Given the description of an element on the screen output the (x, y) to click on. 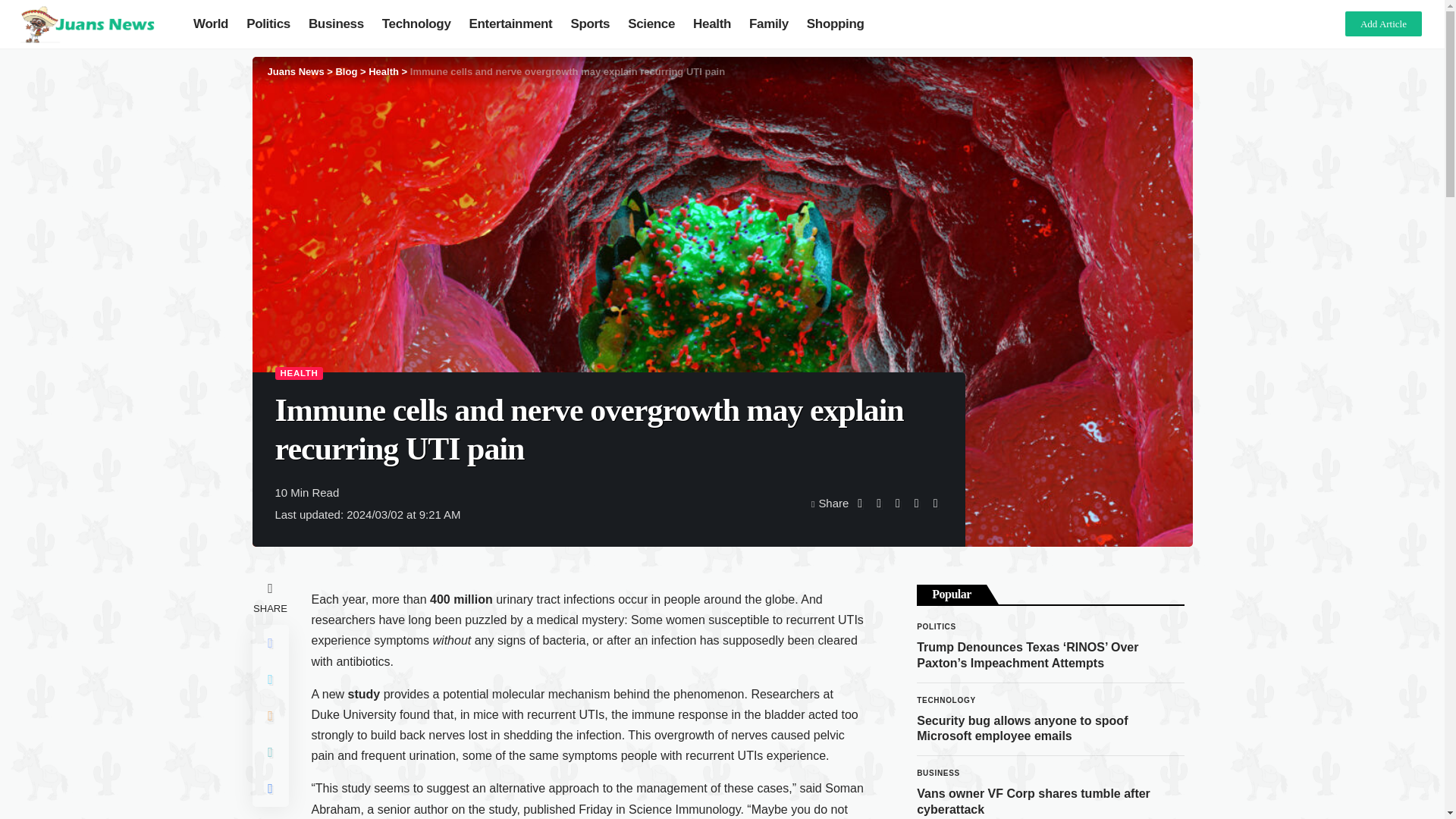
World (210, 23)
Add Article (1383, 23)
Go to Juans News. (294, 71)
Technology (416, 23)
Go to the Health Category archives. (383, 71)
Go to Blog. (345, 71)
Shopping (835, 23)
Business (335, 23)
Health (383, 71)
Entertainment (511, 23)
